Given the description of an element on the screen output the (x, y) to click on. 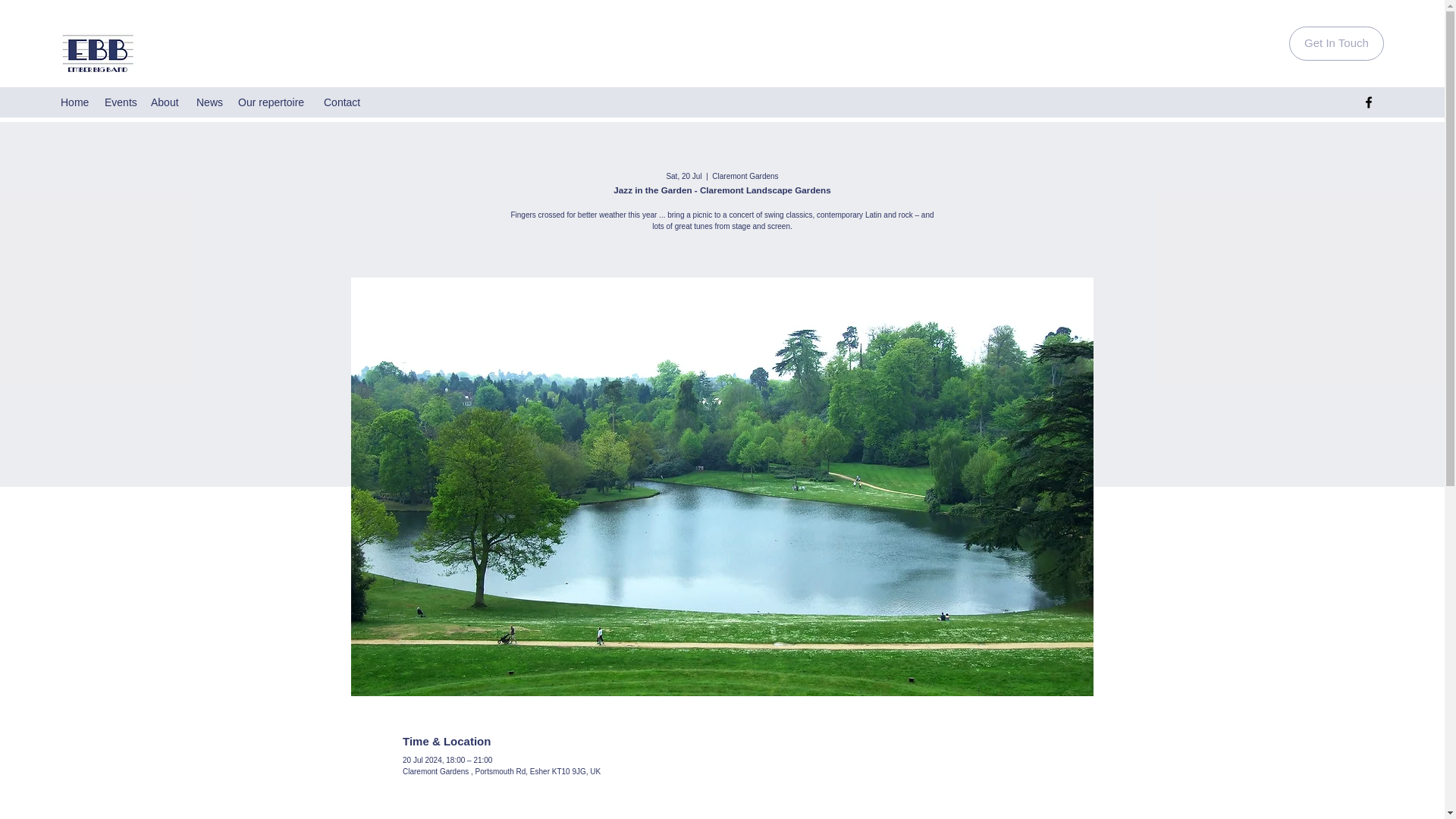
Home (74, 101)
Contact (342, 101)
Get In Touch (1336, 43)
Events (119, 101)
News (209, 101)
About (165, 101)
Our repertoire (272, 101)
